Given the description of an element on the screen output the (x, y) to click on. 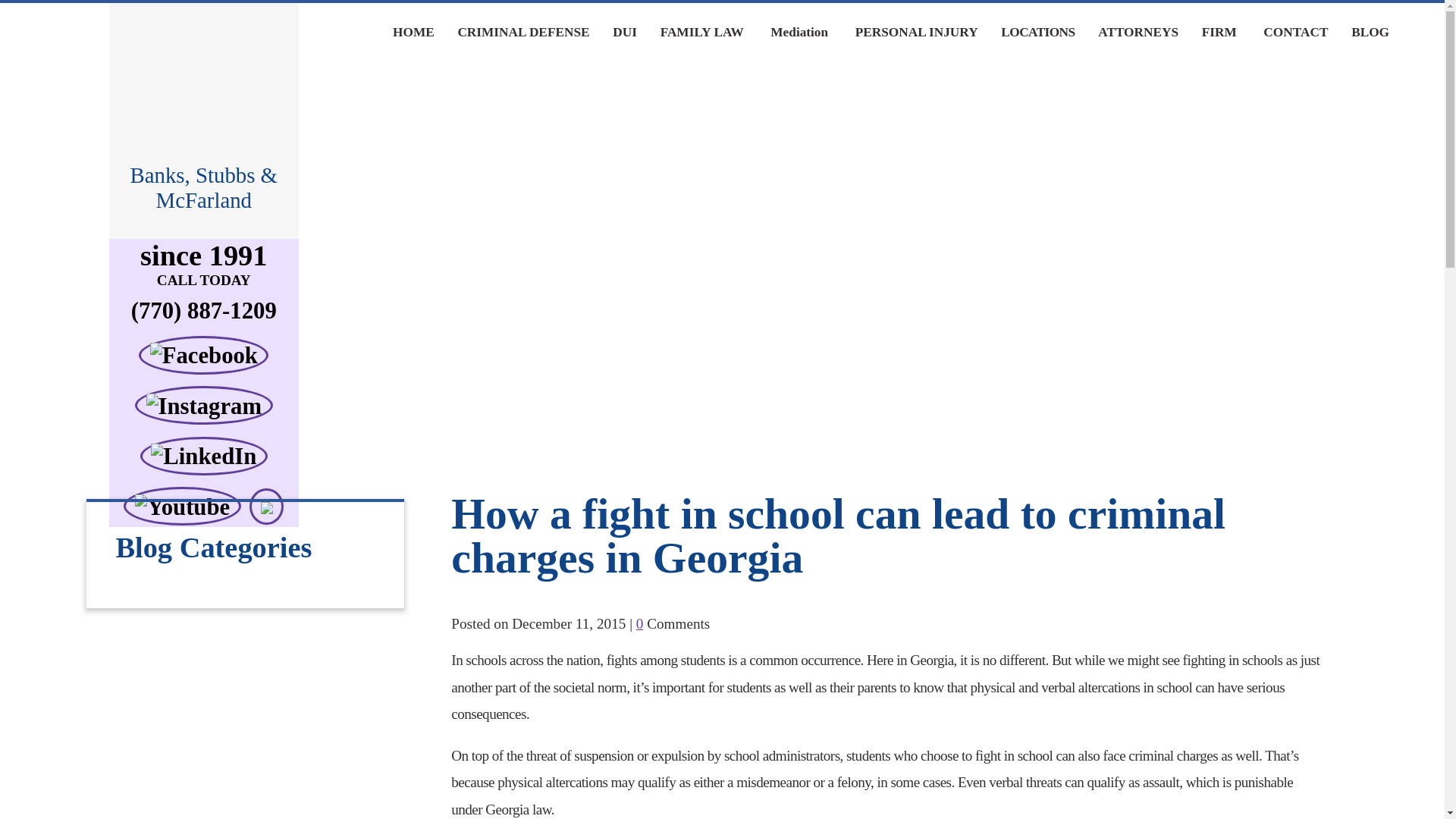
CRIMINAL DEFENSE (523, 45)
HOME (413, 38)
FAMILY LAW (701, 34)
DUI (624, 42)
Mediation (799, 33)
PERSONAL INJURY (916, 33)
